Given the description of an element on the screen output the (x, y) to click on. 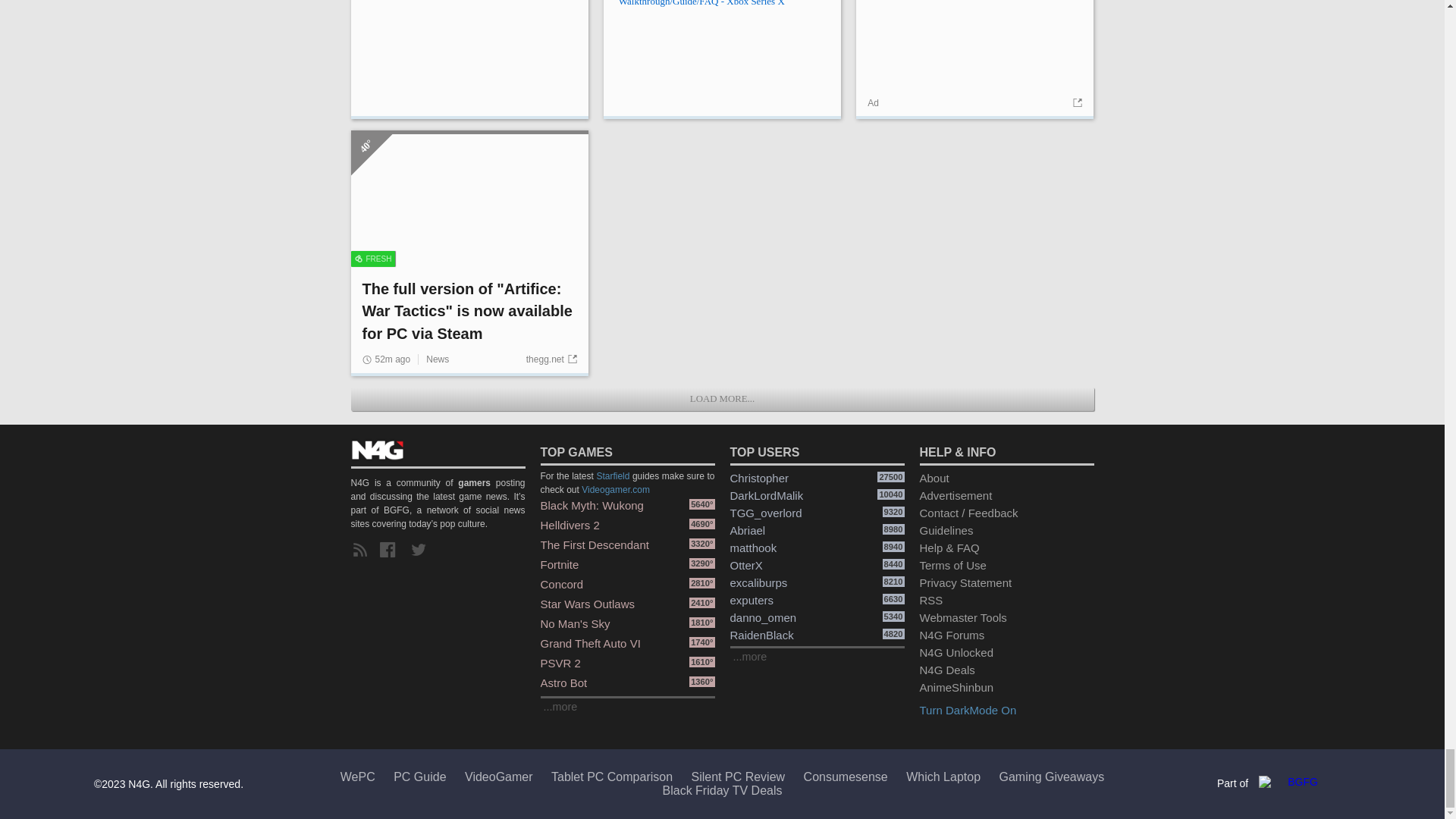
Our twitter page (421, 550)
Go to source (1074, 102)
RSS Feed (362, 550)
Our facebook page (390, 550)
Go to source: thegg.net (550, 358)
